Given the description of an element on the screen output the (x, y) to click on. 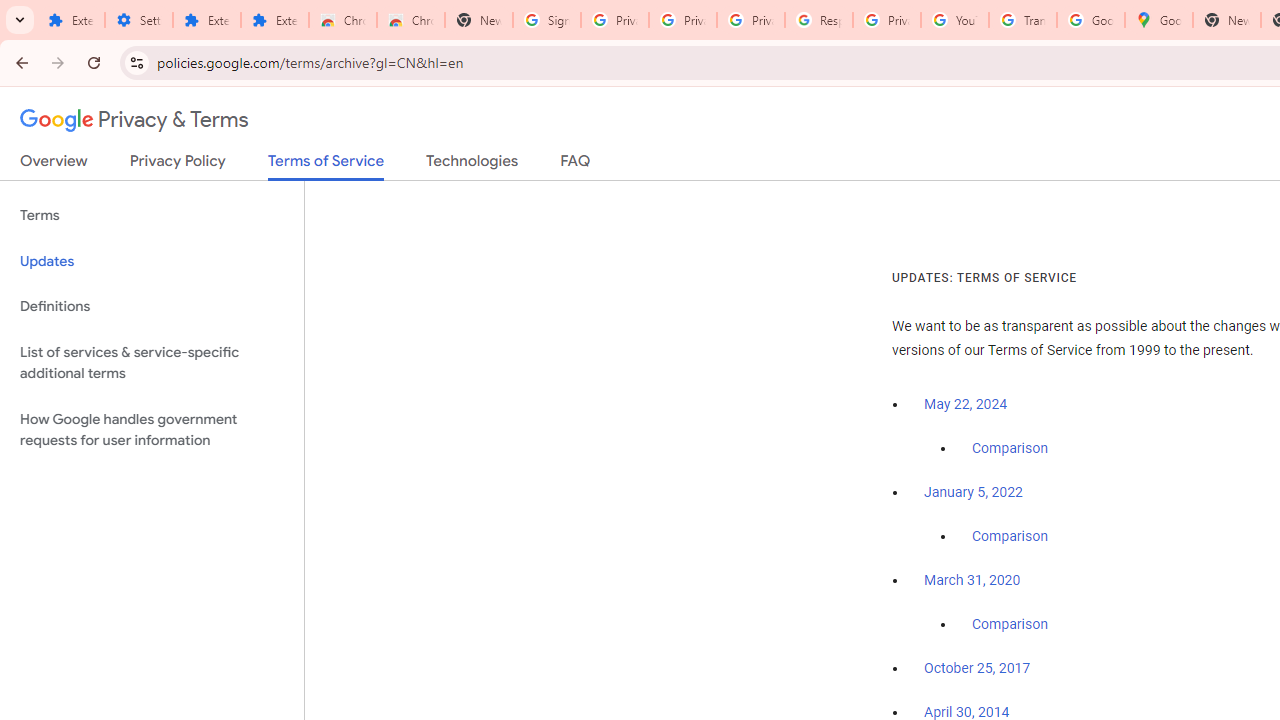
Sign in - Google Accounts (547, 20)
Extensions (206, 20)
Chrome Web Store - Themes (411, 20)
January 5, 2022 (973, 492)
